Given the description of an element on the screen output the (x, y) to click on. 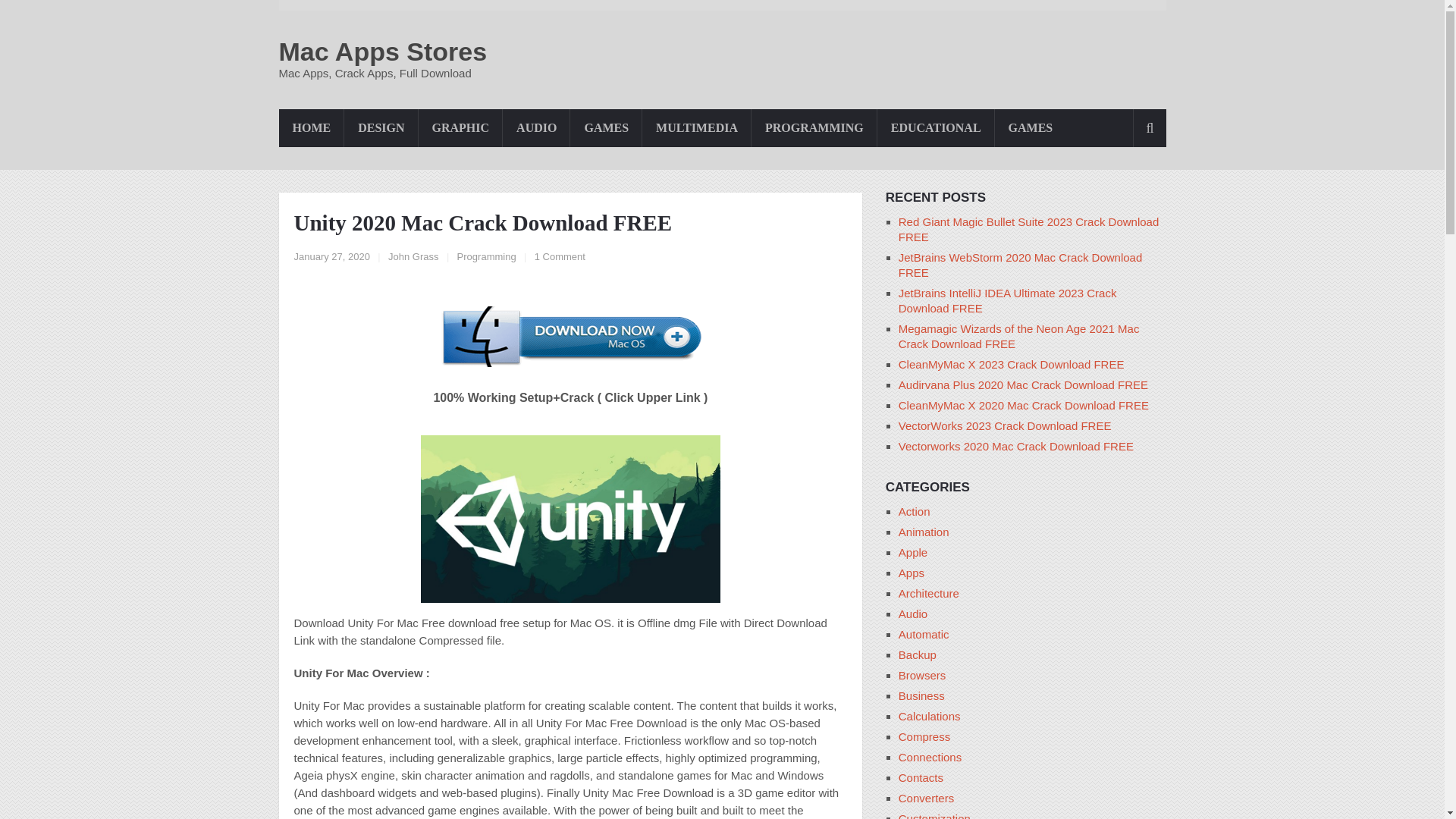
MULTIMEDIA (696, 127)
GRAPHIC (461, 127)
JetBrains WebStorm 2020 Mac Crack Download FREE (1020, 264)
View all posts in Programming (486, 256)
Animation (923, 531)
CleanMyMac X 2020 Mac Crack Download FREE (1023, 404)
Red Giant Magic Bullet Suite 2023 Crack Download FREE (1028, 229)
Programming (486, 256)
GAMES (606, 127)
VectorWorks 2023 Crack Download FREE (1005, 425)
